Given the description of an element on the screen output the (x, y) to click on. 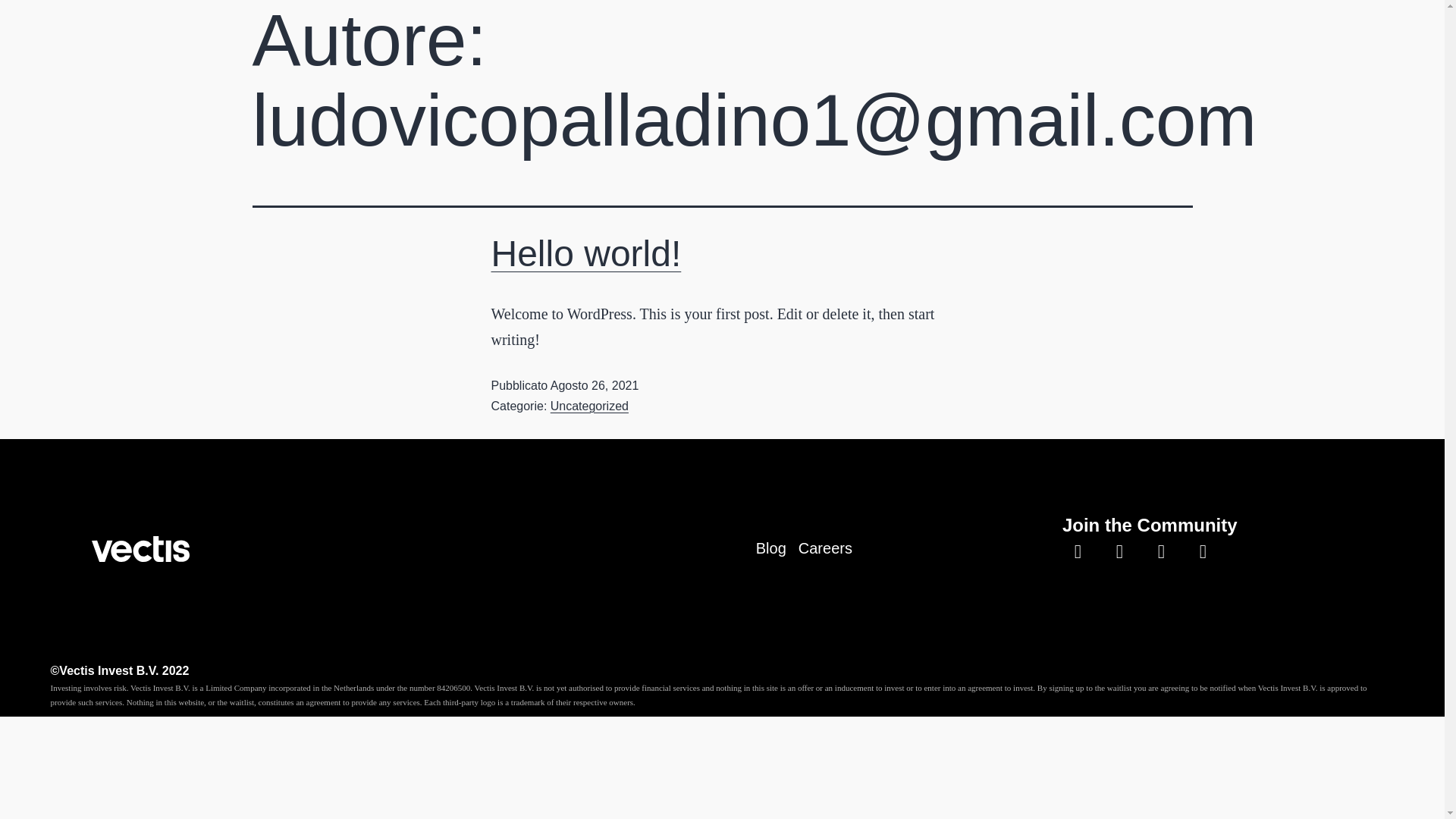
Blog (770, 548)
Uncategorized (589, 405)
Careers (824, 548)
Hello world! (586, 253)
